Given the description of an element on the screen output the (x, y) to click on. 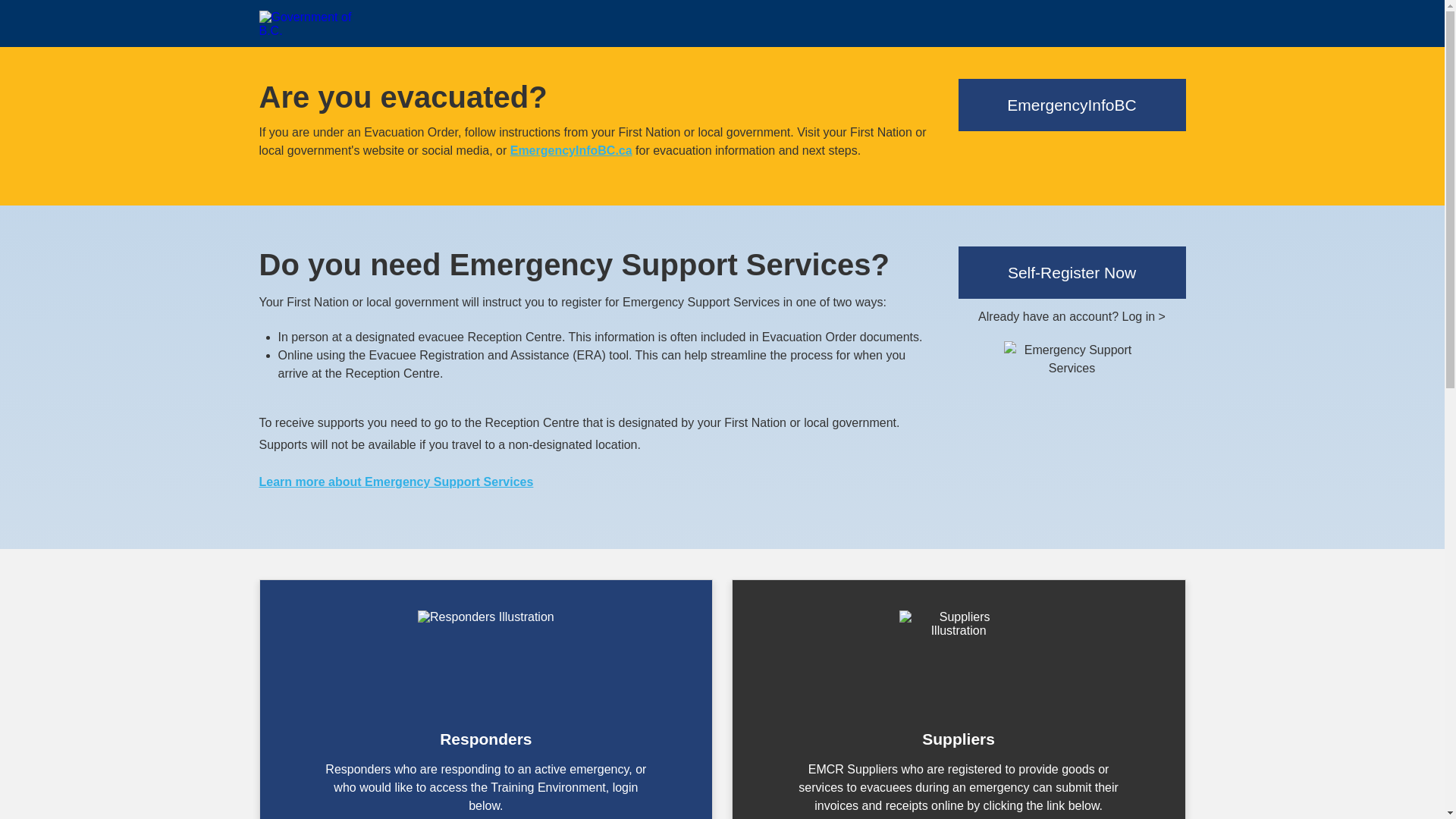
Self-Register Now Element type: text (1072, 272)
Already have an account? Log in > Element type: text (1071, 316)
EmergencyInfoBC.ca Element type: text (571, 150)
Learn more about Emergency Support Services Element type: text (396, 481)
EmergencyInfoBC Element type: text (1072, 104)
